Given the description of an element on the screen output the (x, y) to click on. 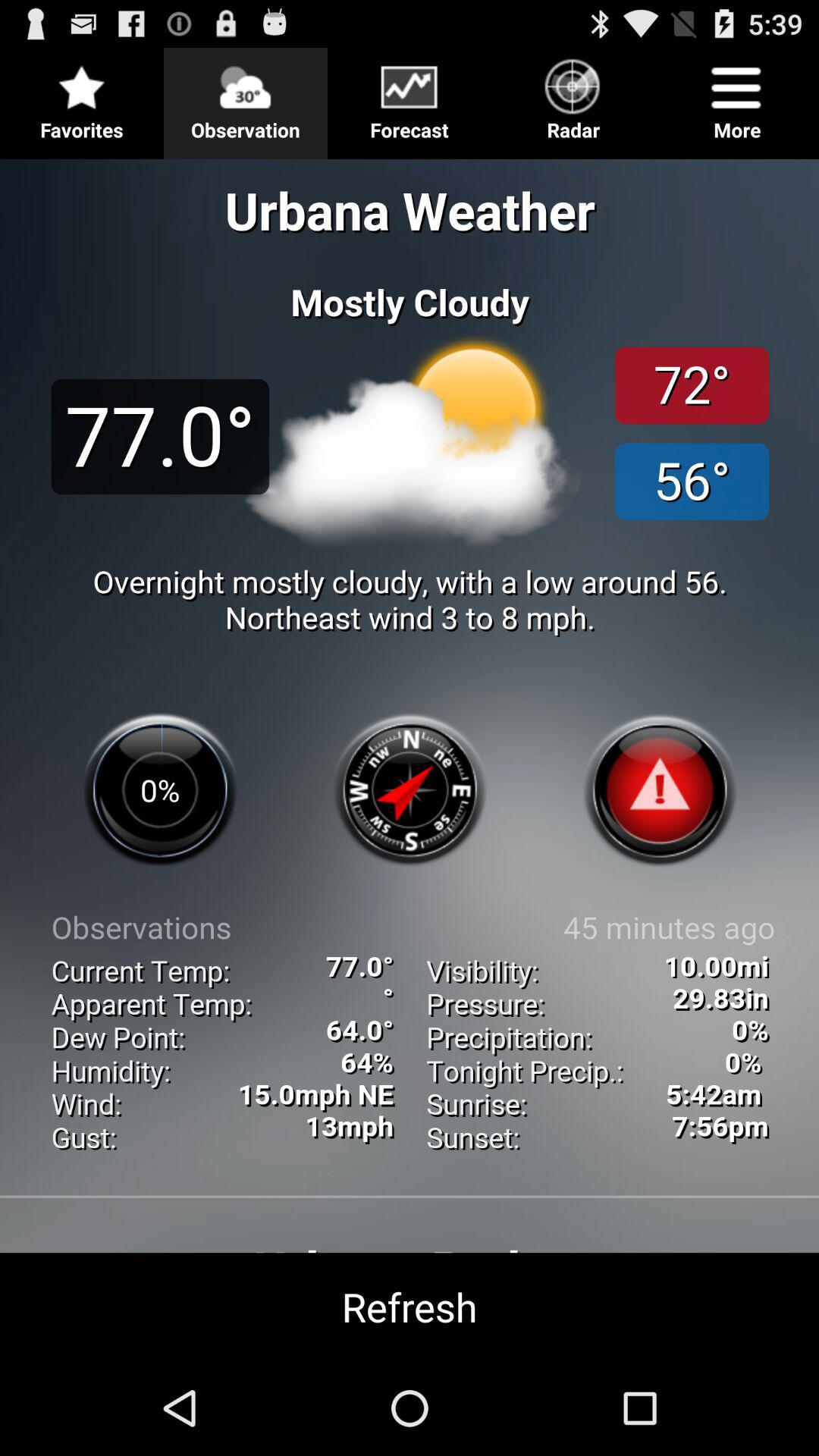
go to menu (409, 97)
